Given the description of an element on the screen output the (x, y) to click on. 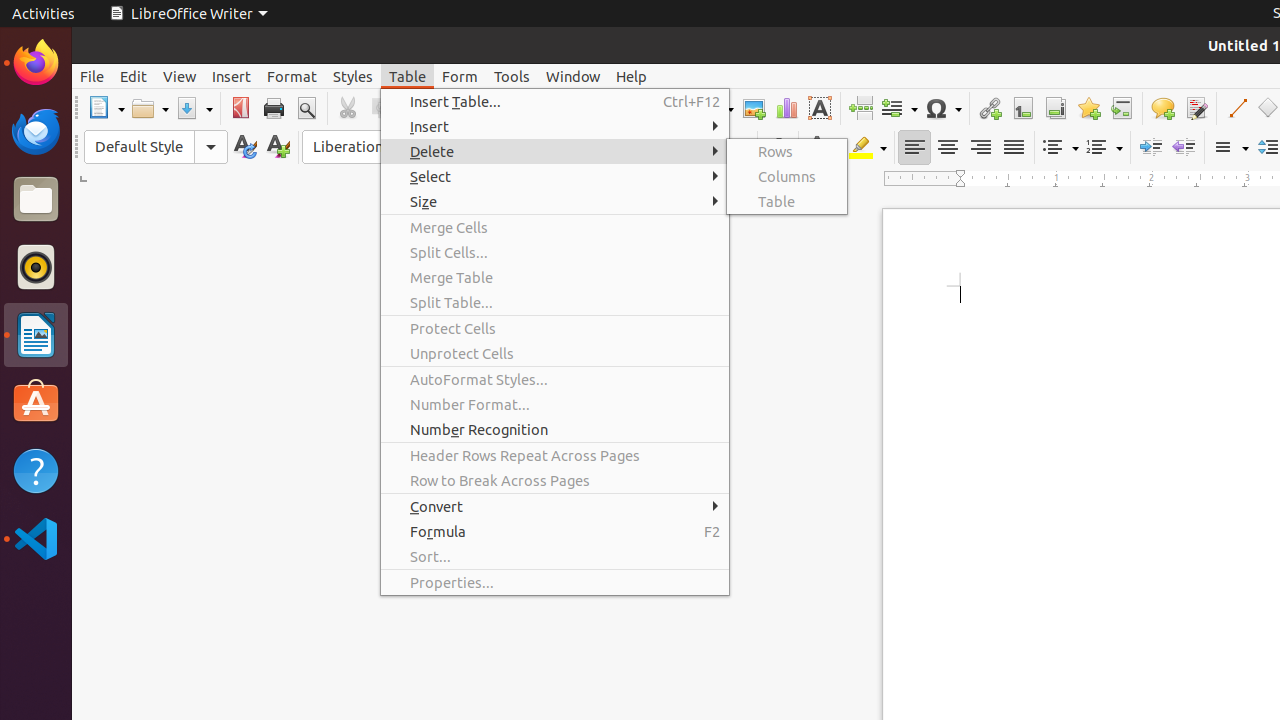
Help Element type: menu (631, 76)
Update Element type: push-button (244, 147)
Print Preview Element type: toggle-button (306, 108)
Tools Element type: menu (512, 76)
Split Table... Element type: menu-item (555, 302)
